Given the description of an element on the screen output the (x, y) to click on. 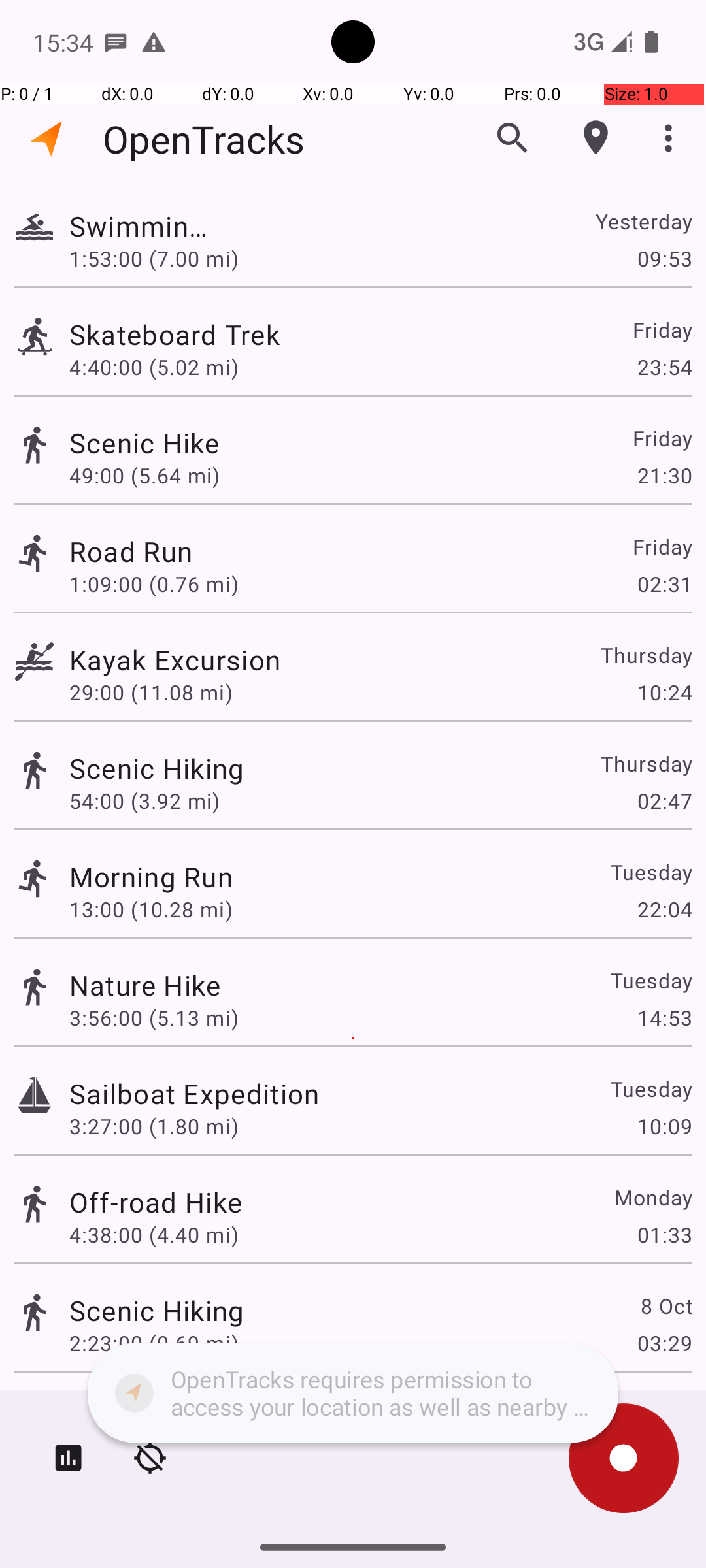
Swimming Adventure Element type: android.widget.TextView (144, 225)
1:53:00 (7.00 mi) Element type: android.widget.TextView (153, 258)
09:53 Element type: android.widget.TextView (664, 258)
Skateboard Trek Element type: android.widget.TextView (193, 333)
4:40:00 (5.02 mi) Element type: android.widget.TextView (153, 366)
23:54 Element type: android.widget.TextView (664, 366)
Scenic Hike Element type: android.widget.TextView (155, 442)
49:00 (5.64 mi) Element type: android.widget.TextView (153, 475)
21:30 Element type: android.widget.TextView (664, 475)
Road Run Element type: android.widget.TextView (156, 550)
1:09:00 (0.76 mi) Element type: android.widget.TextView (153, 583)
02:31 Element type: android.widget.TextView (664, 583)
Kayak Excursion Element type: android.widget.TextView (189, 659)
29:00 (11.08 mi) Element type: android.widget.TextView (153, 692)
10:24 Element type: android.widget.TextView (664, 692)
Scenic Hiking Element type: android.widget.TextView (156, 767)
54:00 (3.92 mi) Element type: android.widget.TextView (144, 800)
02:47 Element type: android.widget.TextView (664, 800)
Morning Run Element type: android.widget.TextView (150, 876)
13:00 (10.28 mi) Element type: android.widget.TextView (150, 909)
22:04 Element type: android.widget.TextView (664, 909)
Nature Hike Element type: android.widget.TextView (144, 984)
3:56:00 (5.13 mi) Element type: android.widget.TextView (153, 1017)
14:53 Element type: android.widget.TextView (664, 1017)
Sailboat Expedition Element type: android.widget.TextView (193, 1092)
3:27:00 (1.80 mi) Element type: android.widget.TextView (153, 1125)
10:09 Element type: android.widget.TextView (664, 1125)
Off-road Hike Element type: android.widget.TextView (155, 1201)
4:38:00 (4.40 mi) Element type: android.widget.TextView (153, 1234)
01:33 Element type: android.widget.TextView (664, 1234)
8 Oct Element type: android.widget.TextView (665, 1305)
2:23:00 (0.69 mi) Element type: android.widget.TextView (153, 1342)
03:29 Element type: android.widget.TextView (664, 1342)
Mindful Movement Element type: android.widget.TextView (189, 1408)
6 Oct Element type: android.widget.TextView (665, 1408)
